Given the description of an element on the screen output the (x, y) to click on. 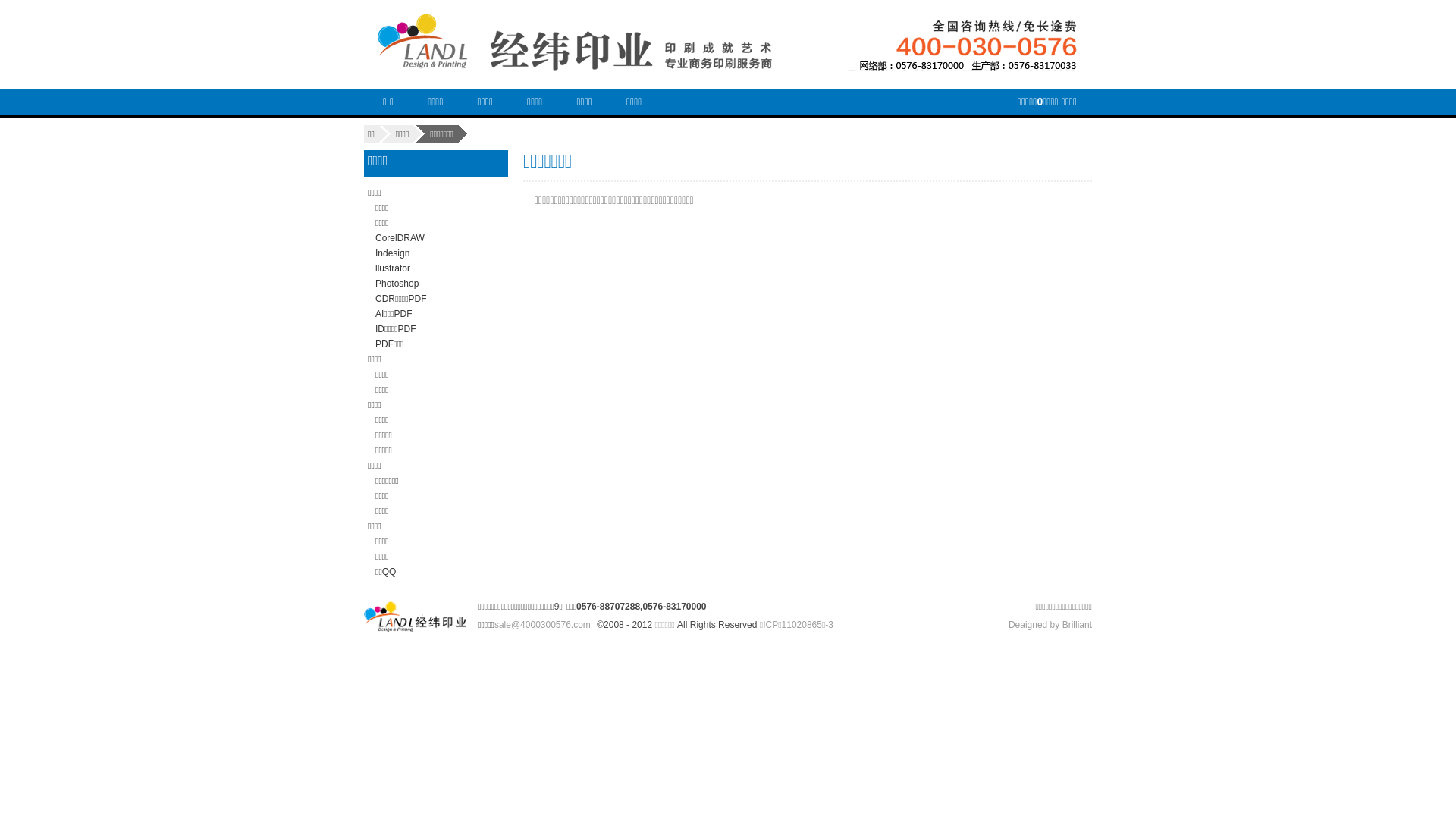
Photoshop Element type: text (396, 283)
CorelDRAW Element type: text (399, 237)
sale@4000300576.com Element type: text (542, 624)
llustrator Element type: text (392, 268)
Brilliant Element type: text (1077, 624)
Indesign Element type: text (392, 252)
